Given the description of an element on the screen output the (x, y) to click on. 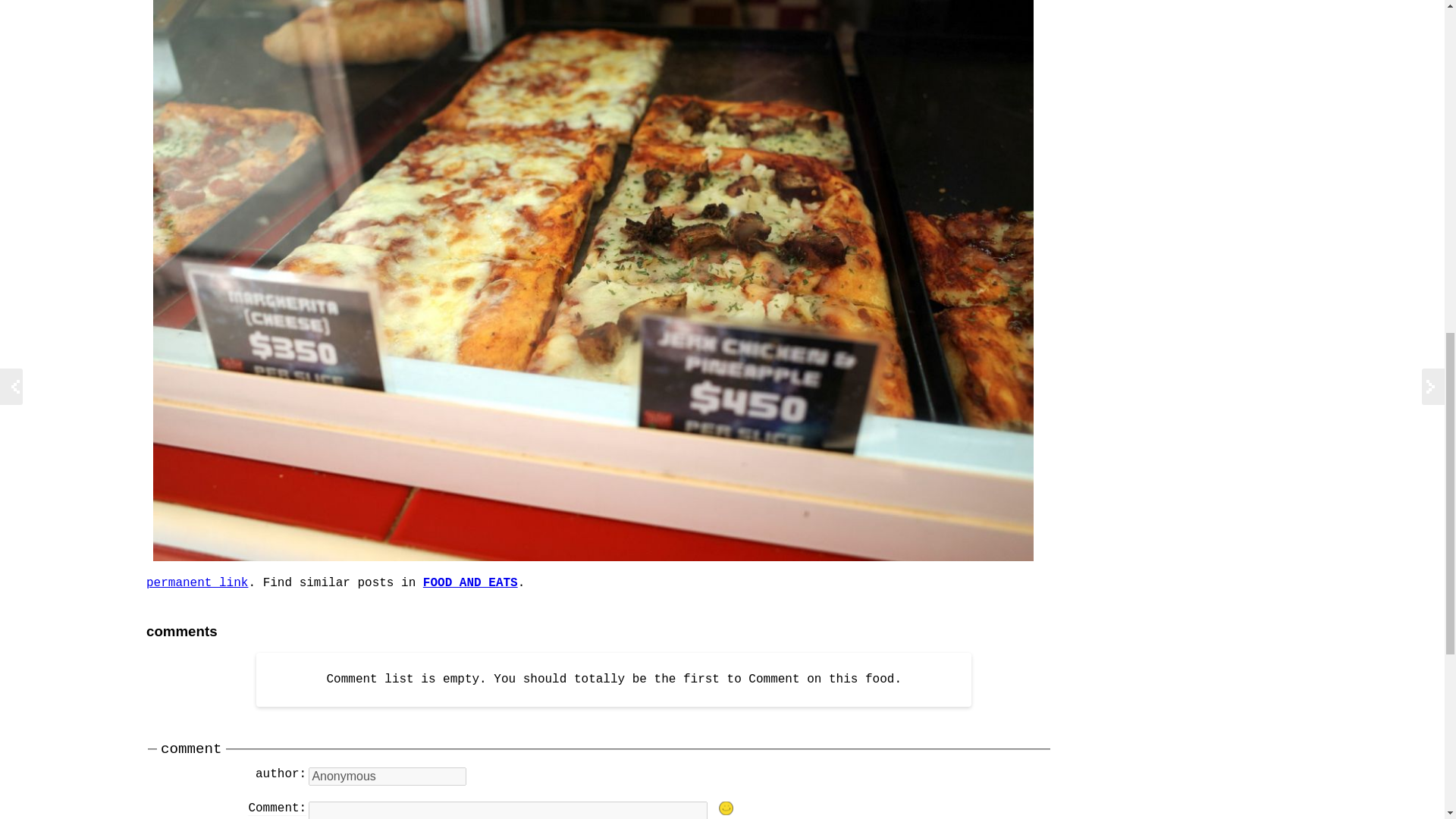
permanent link to the current page item (197, 582)
FOOD AND EATS (470, 582)
permanent link (197, 582)
a slave to the belly (470, 582)
Show Smilies (725, 807)
Anonymous (386, 776)
